Given the description of an element on the screen output the (x, y) to click on. 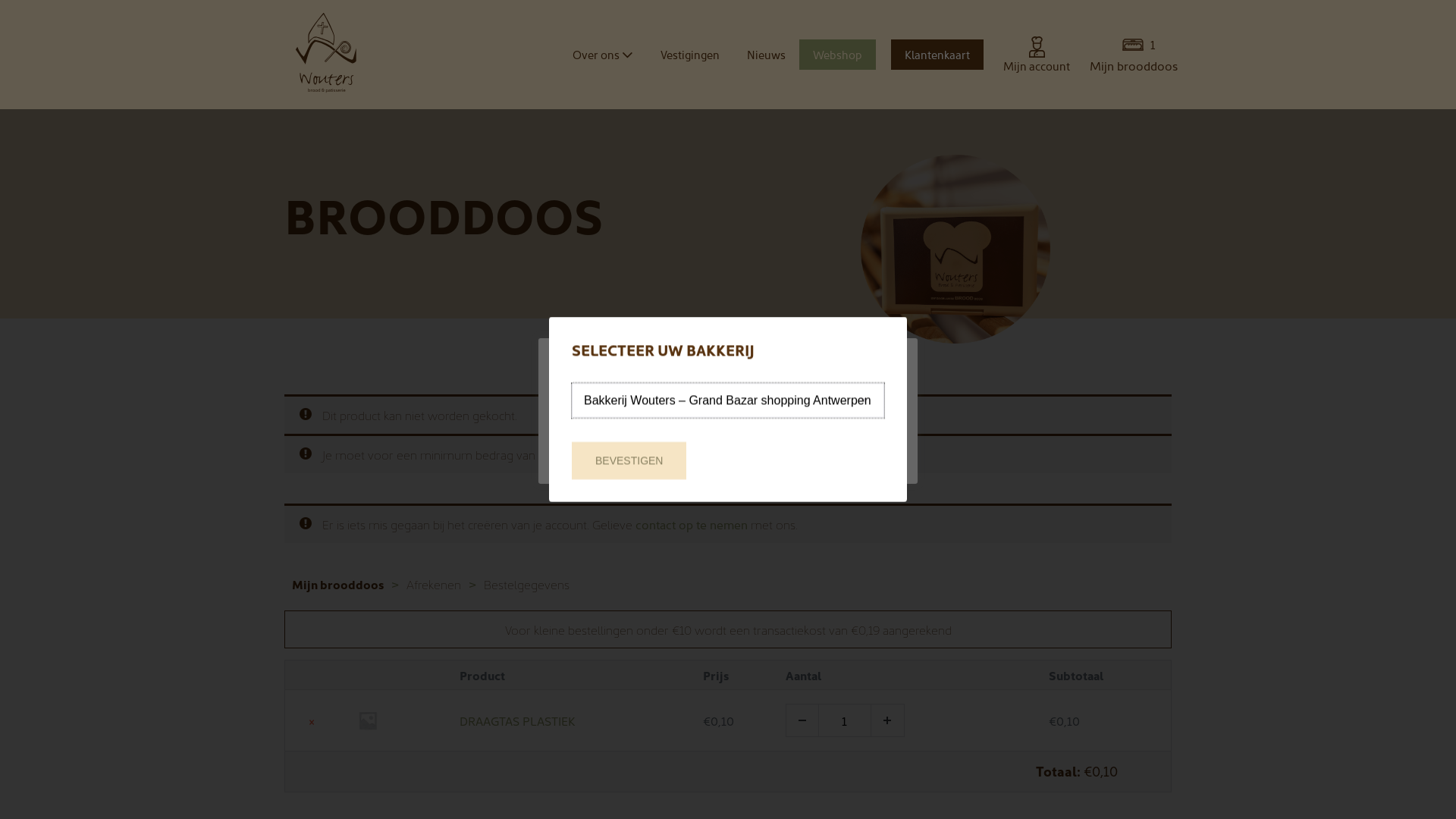
Nieuws Element type: text (766, 54)
Decrease Hoeveelheid Element type: text (802, 720)
Mijn account Element type: text (1036, 65)
Mijn-Brooddoos Element type: hover (955, 249)
Increase Hoeveelheid Element type: text (887, 720)
contact op te nemen Element type: text (691, 523)
BEVESTIGEN Element type: text (628, 460)
Meer lezen Element type: text (778, 443)
Cookie instellingen Element type: text (622, 443)
Accepteren Element type: text (711, 443)
Klantenkaart Element type: text (937, 54)
DRAAGTAS PLASTIEK Element type: text (516, 720)
Over ons Element type: text (602, 54)
Webshop Element type: text (837, 54)
Vestigingen Element type: text (689, 54)
Bakkerij Wouters Element type: hover (325, 54)
Shopping Mijn brooddoos
1
Items in Mijn brooddoos Element type: text (1132, 44)
